Given the description of an element on the screen output the (x, y) to click on. 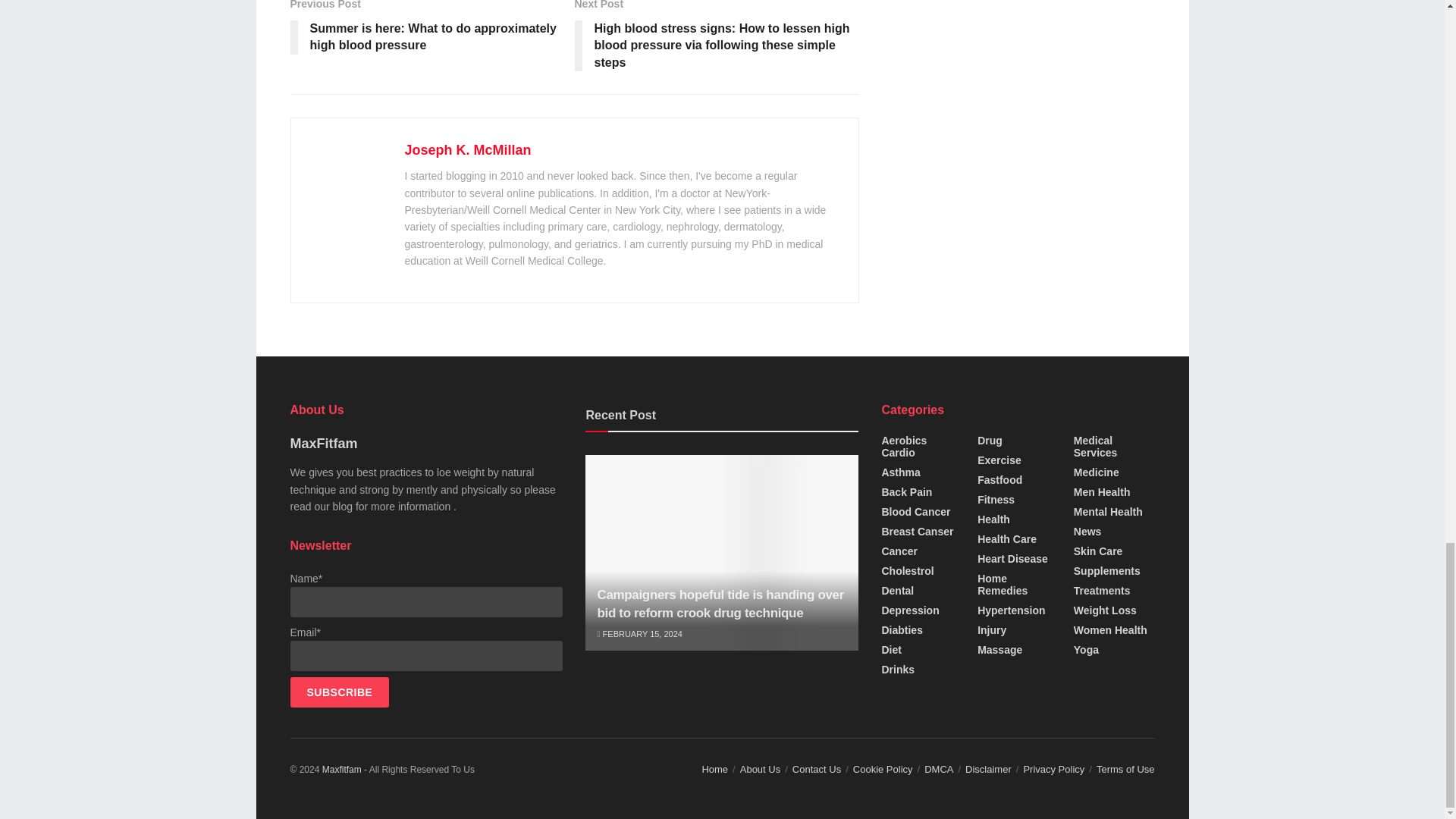
Maxfitfam (341, 769)
Subscribe (338, 692)
